Given the description of an element on the screen output the (x, y) to click on. 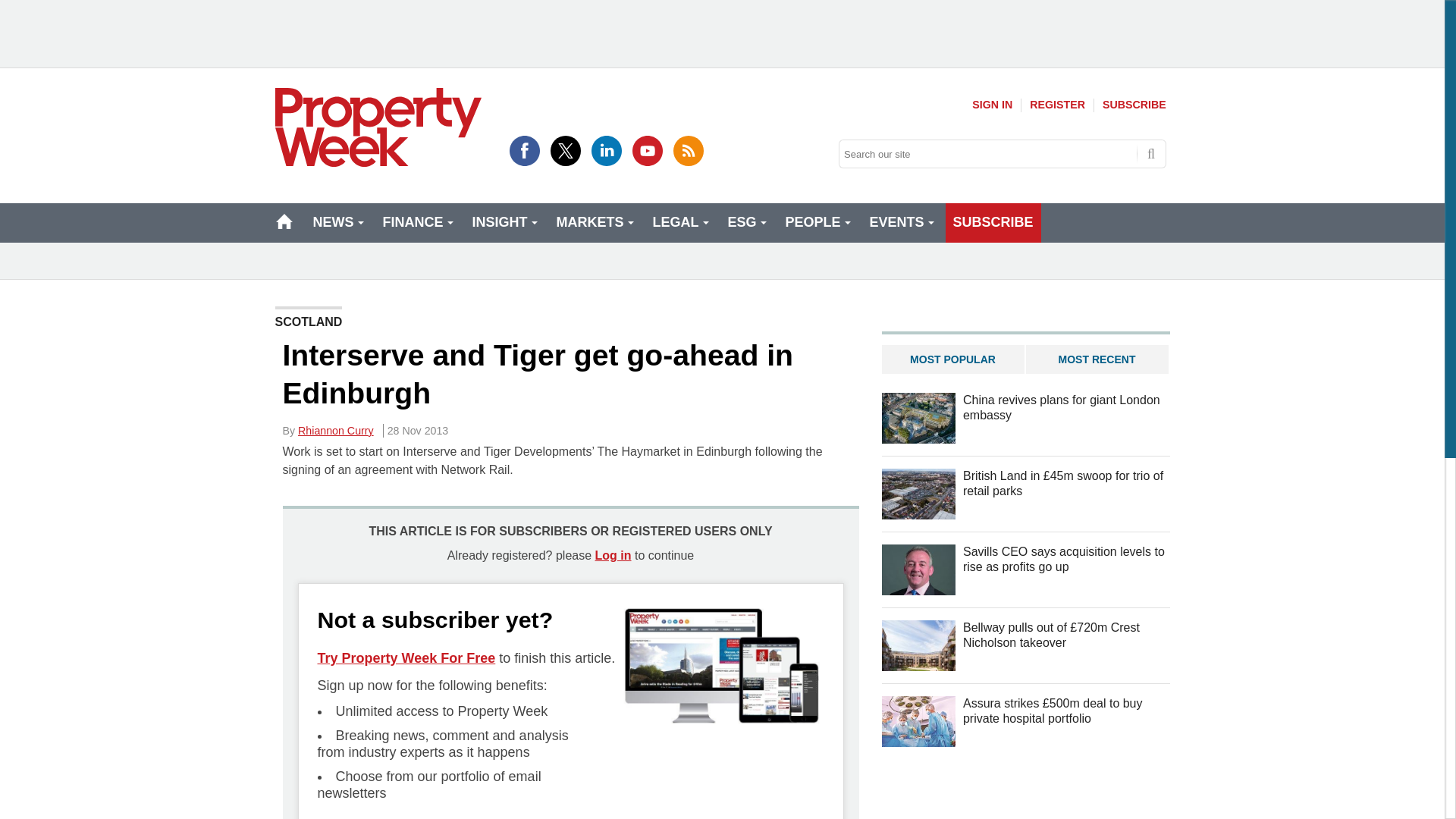
REGISTER (1056, 105)
Posts by Rhiannon Curry (336, 430)
HOME (283, 221)
Savills CEO says acquisition levels to rise as profits go up (917, 569)
Property Week (377, 127)
NEWS (336, 222)
Search (1151, 153)
FINANCE (416, 222)
SIGN IN (991, 105)
SUBSCRIBE (1134, 105)
